Given the description of an element on the screen output the (x, y) to click on. 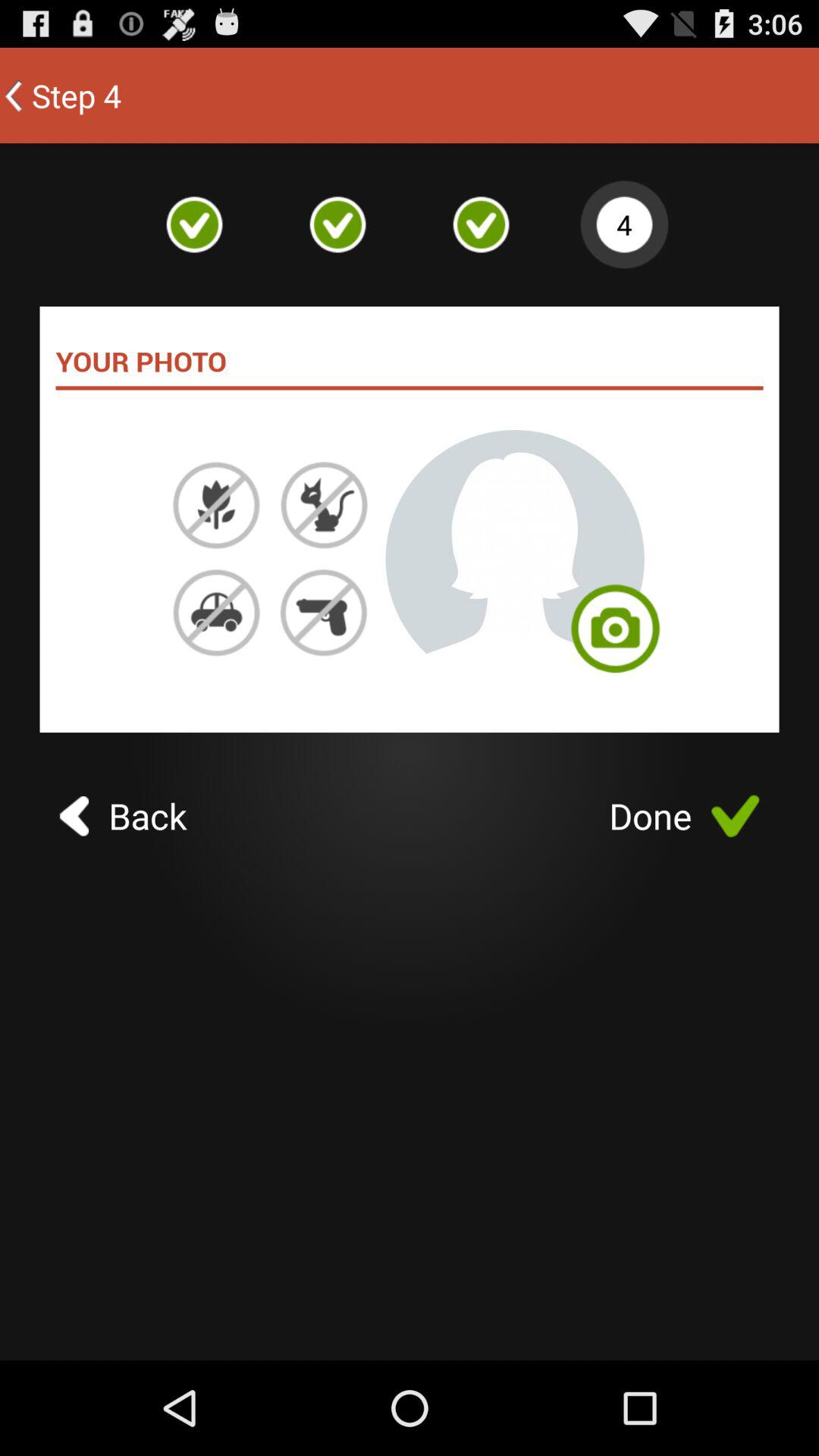
click on the flower image option (216, 505)
click on the icon which is above the text done (615, 635)
move to the second which is below the second icon (323, 505)
select the done button which is at the right side of the page (683, 815)
select a button back which is on the left side of the page (123, 815)
select the option no car which is on the left side of the page (216, 612)
